Given the description of an element on the screen output the (x, y) to click on. 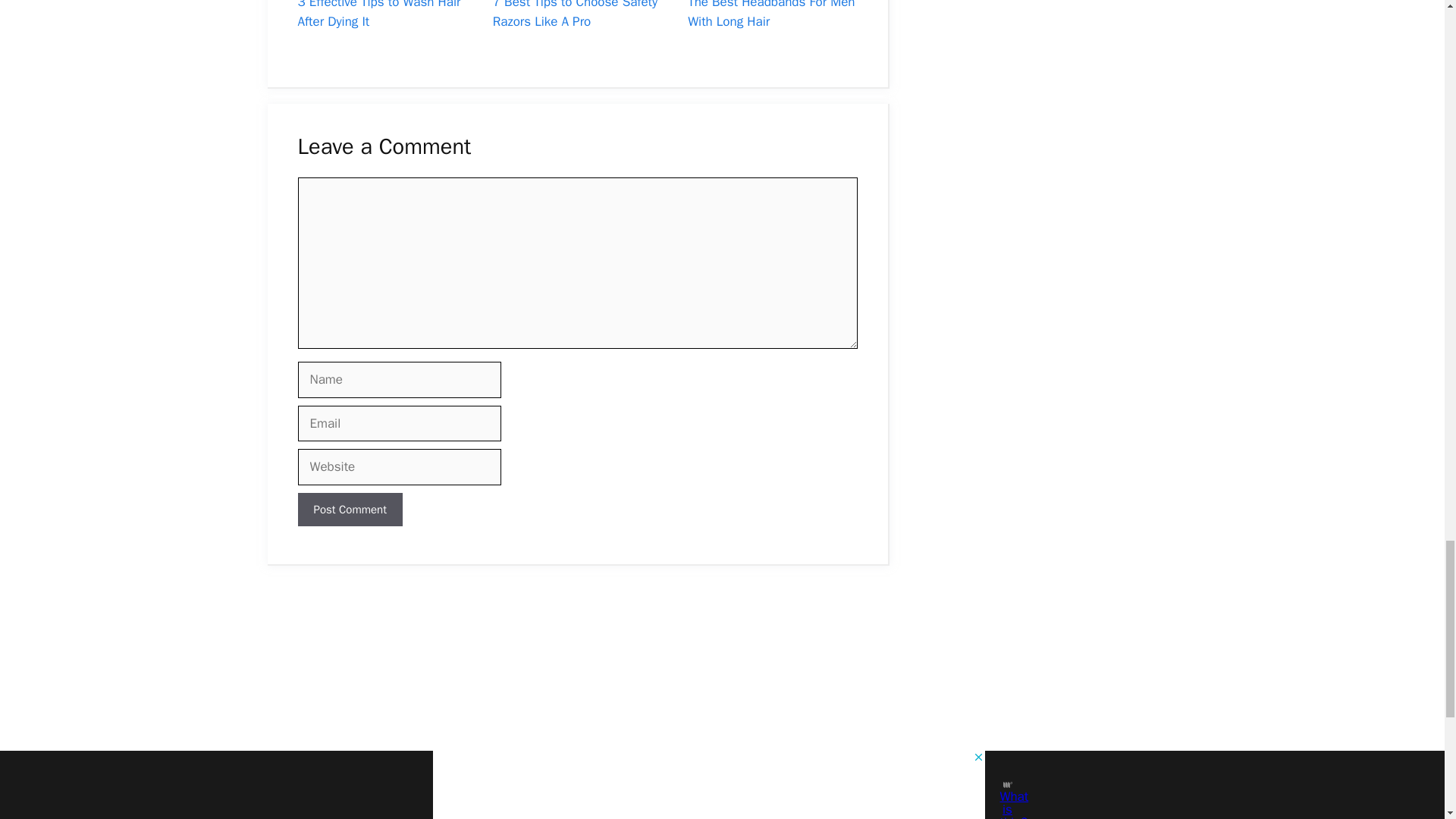
Post Comment (349, 510)
3 Effective Tips to Wash Hair After Dying It (378, 14)
7 Best Tips to Choose Safety Razors Like A Pro (575, 14)
Post Comment (349, 510)
The Best Headbands For Men With Long Hair (770, 14)
